Given the description of an element on the screen output the (x, y) to click on. 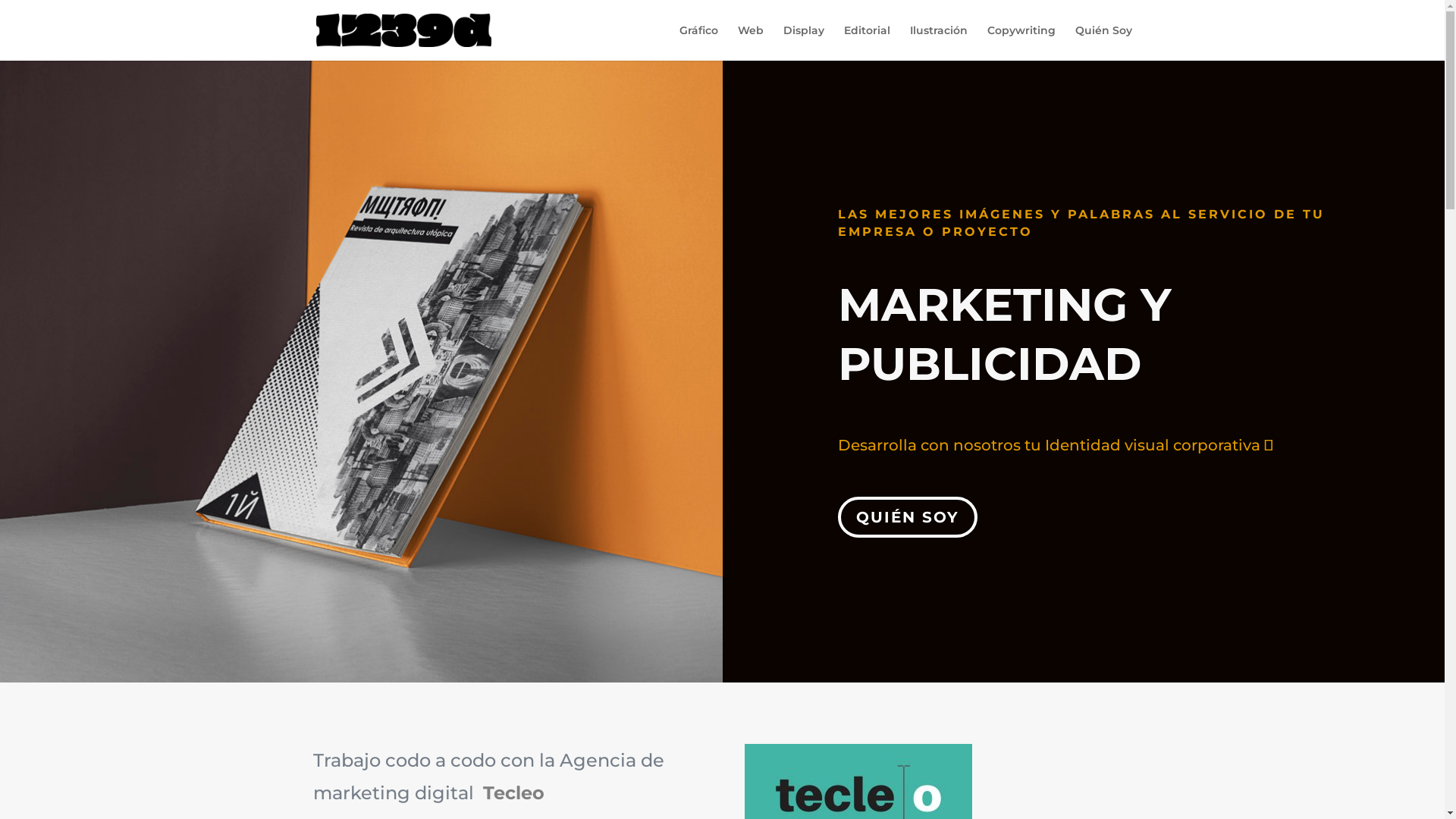
Web Element type: text (749, 42)
Copywriting Element type: text (1021, 42)
Tecleo Element type: text (512, 792)
Editorial Element type: text (866, 42)
Display Element type: text (802, 42)
